Given the description of an element on the screen output the (x, y) to click on. 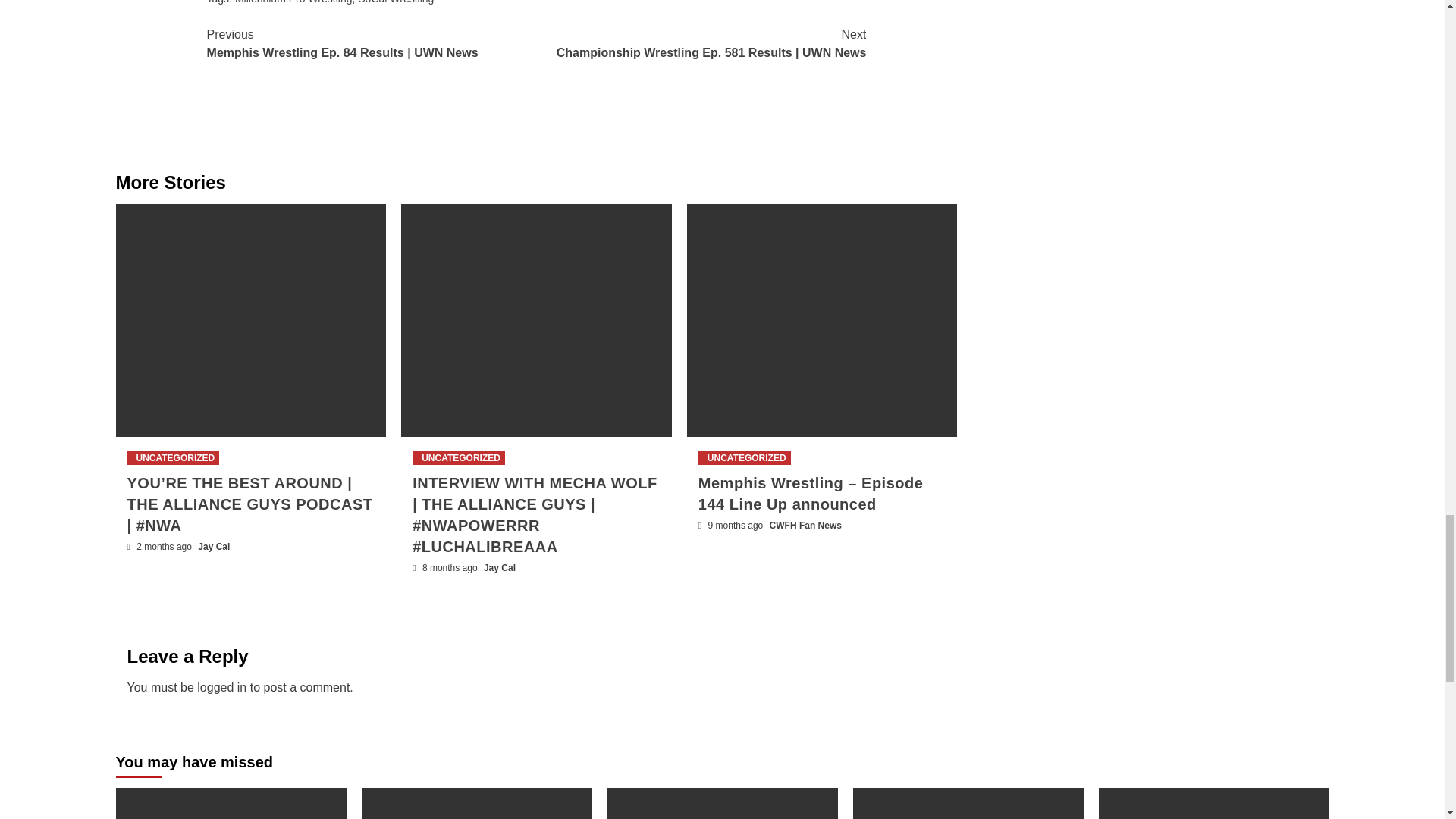
Millennium Pro Wrestling (293, 2)
Jay Cal (499, 567)
SoCal Wrestling (395, 2)
UNCATEGORIZED (458, 458)
CWFH Fan News (805, 525)
UNCATEGORIZED (173, 458)
logged in (221, 686)
UNCATEGORIZED (744, 458)
Jay Cal (214, 546)
